Given the description of an element on the screen output the (x, y) to click on. 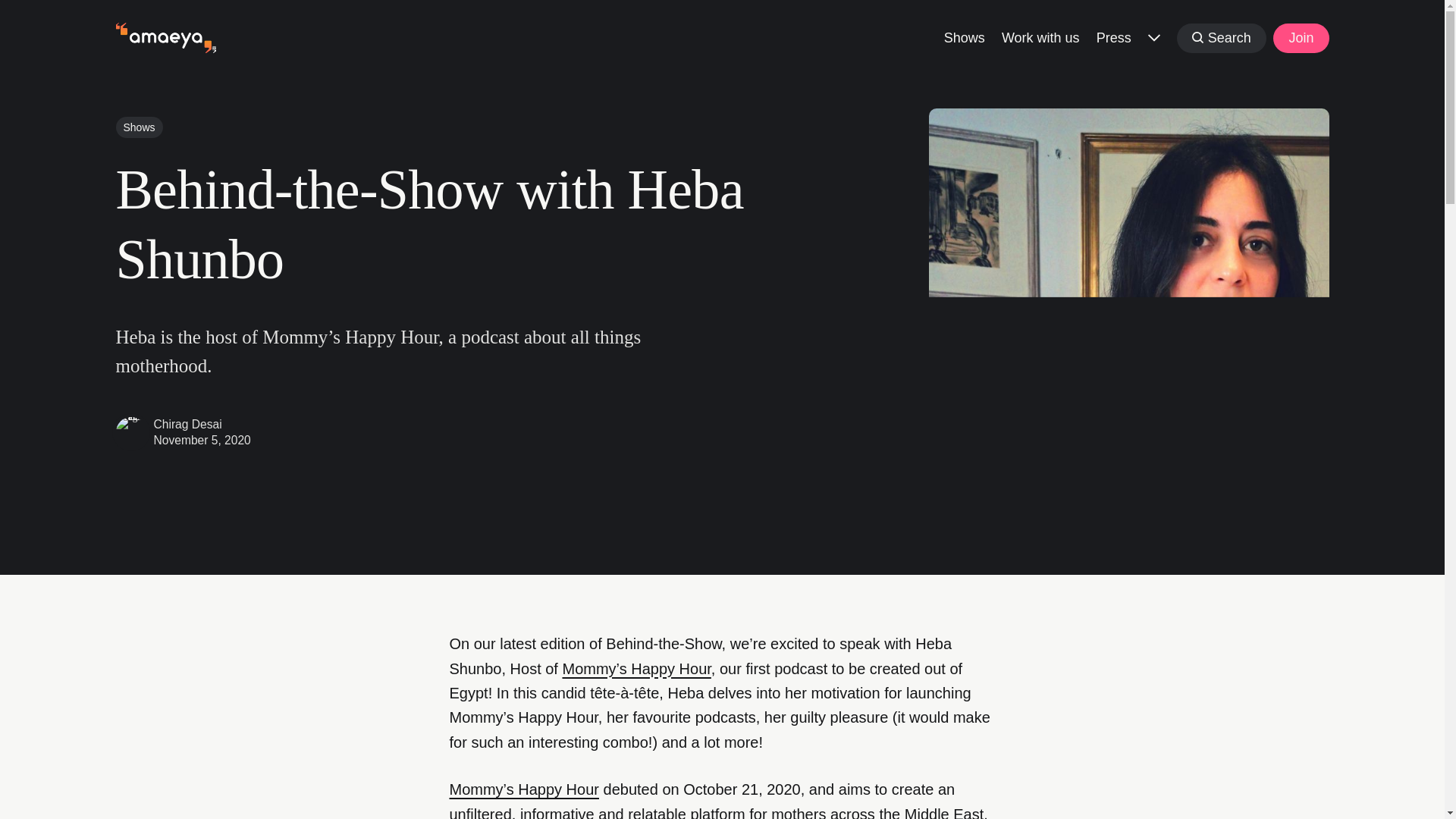
Shows (964, 37)
Chirag Desai (130, 431)
Work with us (1040, 37)
Press (1113, 37)
Chirag Desai (186, 423)
Shows (138, 127)
Join (1299, 37)
